Given the description of an element on the screen output the (x, y) to click on. 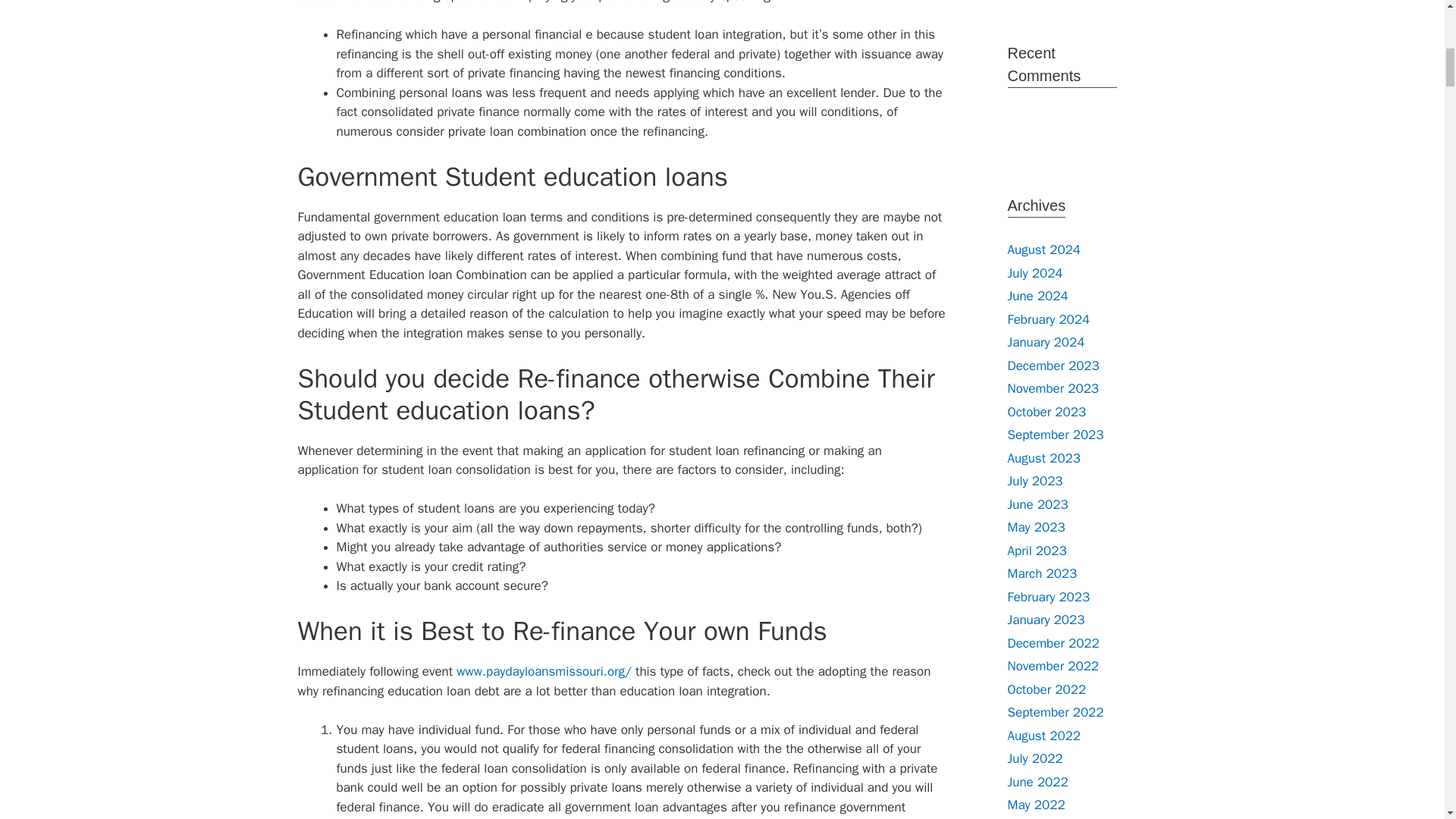
August 2023 (1043, 458)
June 2023 (1037, 503)
September 2023 (1055, 434)
November 2023 (1053, 388)
February 2024 (1048, 318)
August 2024 (1043, 249)
Scroll back to top (1406, 720)
October 2023 (1046, 411)
July 2024 (1034, 273)
January 2024 (1045, 342)
July 2023 (1034, 480)
December 2023 (1053, 365)
June 2024 (1037, 295)
